Given the description of an element on the screen output the (x, y) to click on. 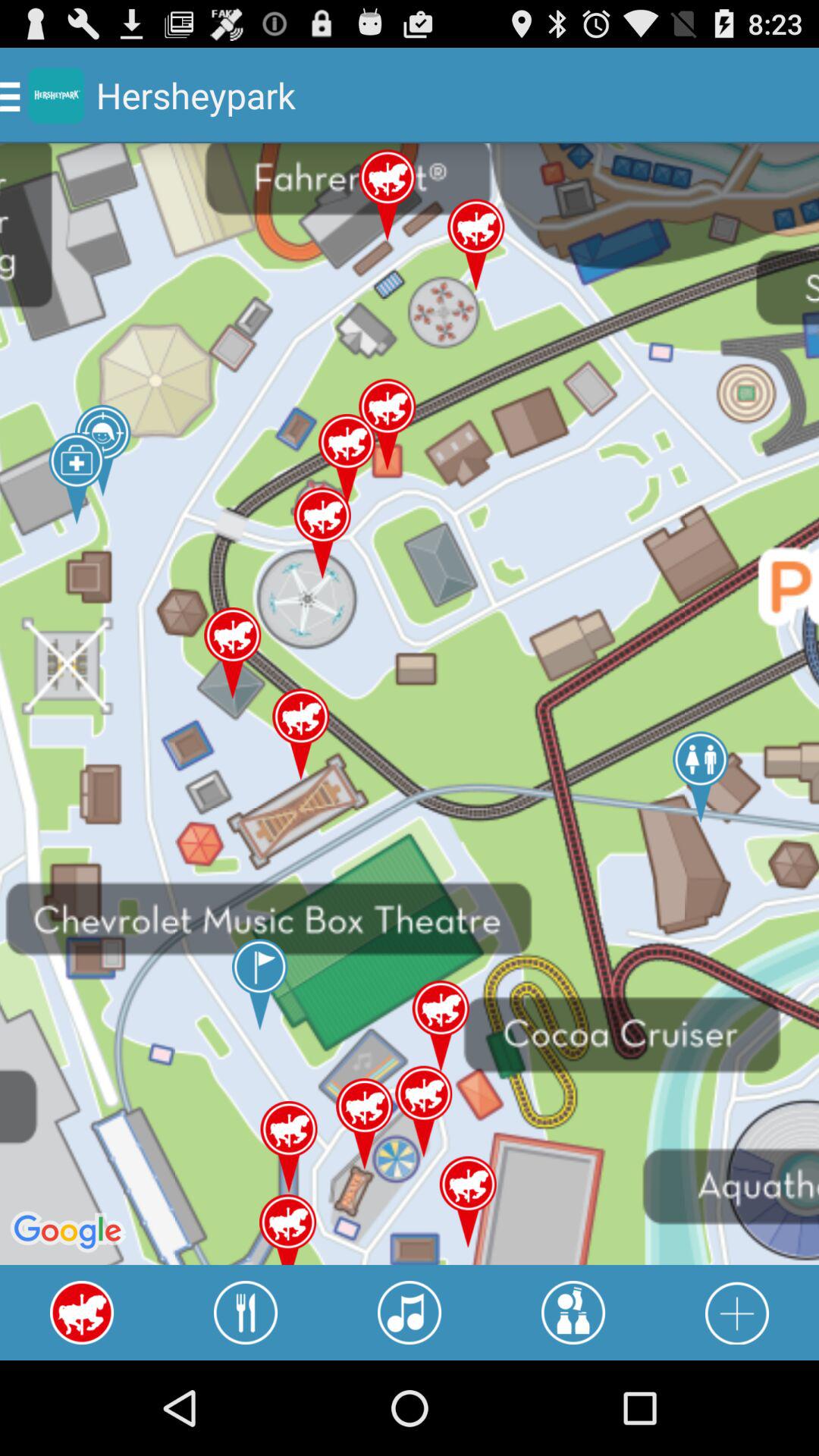
music concerts (409, 1312)
